Given the description of an element on the screen output the (x, y) to click on. 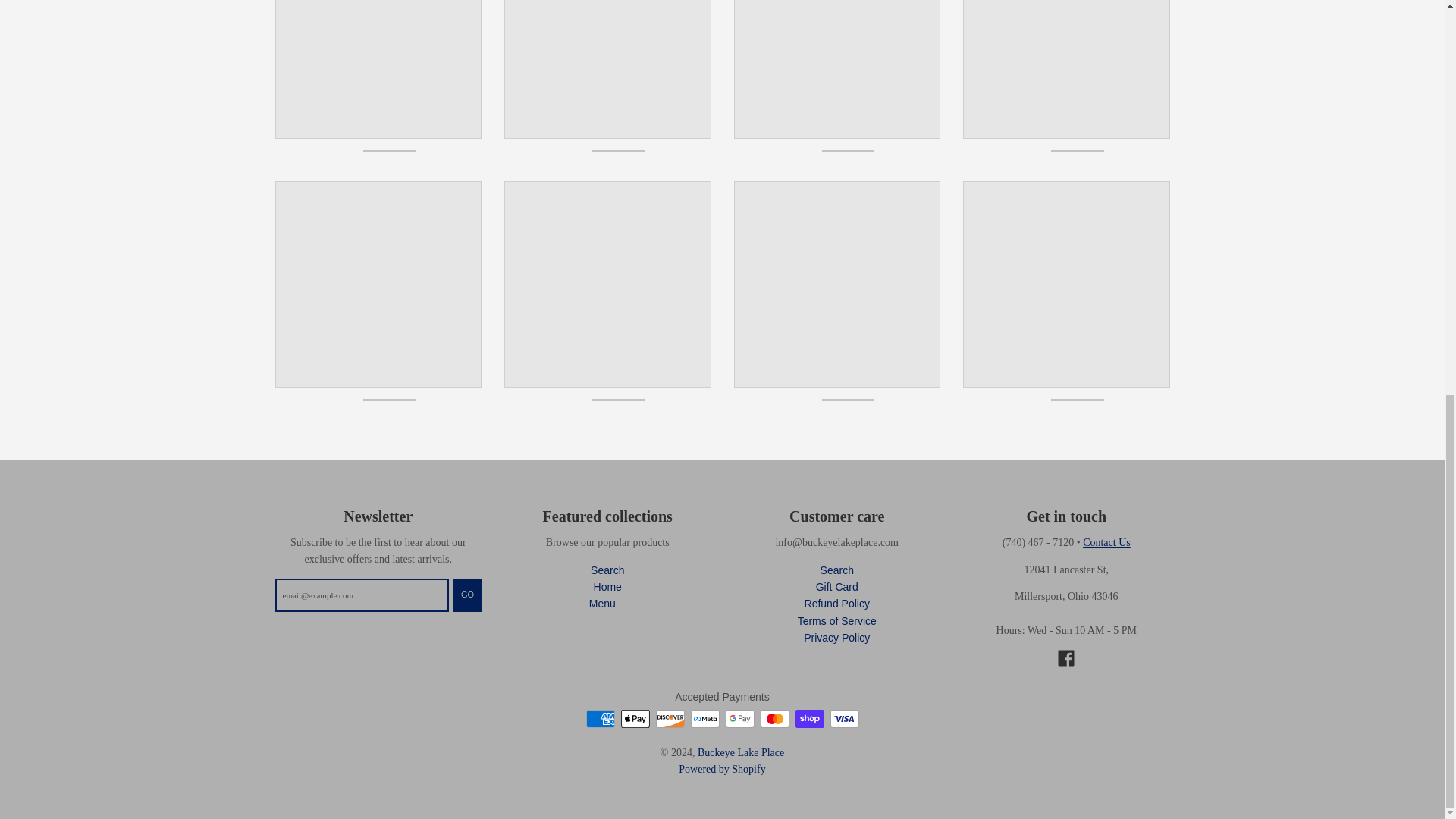
Facebook - Buckeye Lake Place (1066, 658)
